Given the description of an element on the screen output the (x, y) to click on. 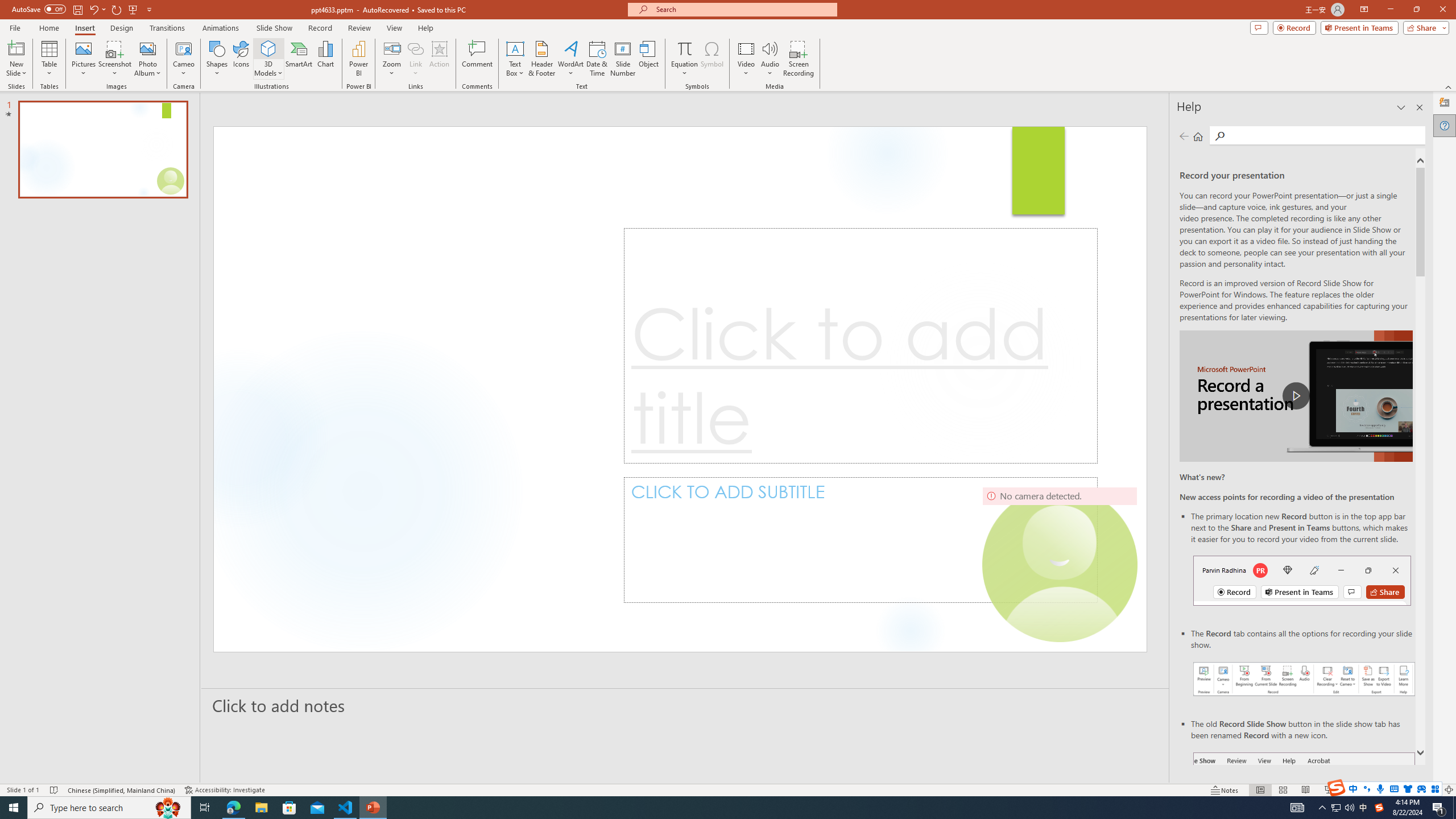
New Photo Album... (147, 48)
Record button in top bar (1301, 580)
WordArt (570, 58)
Text Box (515, 58)
Header & Footer... (541, 58)
Designer (1444, 102)
Class: MsoCommandBar (728, 789)
Icons (240, 58)
